Given the description of an element on the screen output the (x, y) to click on. 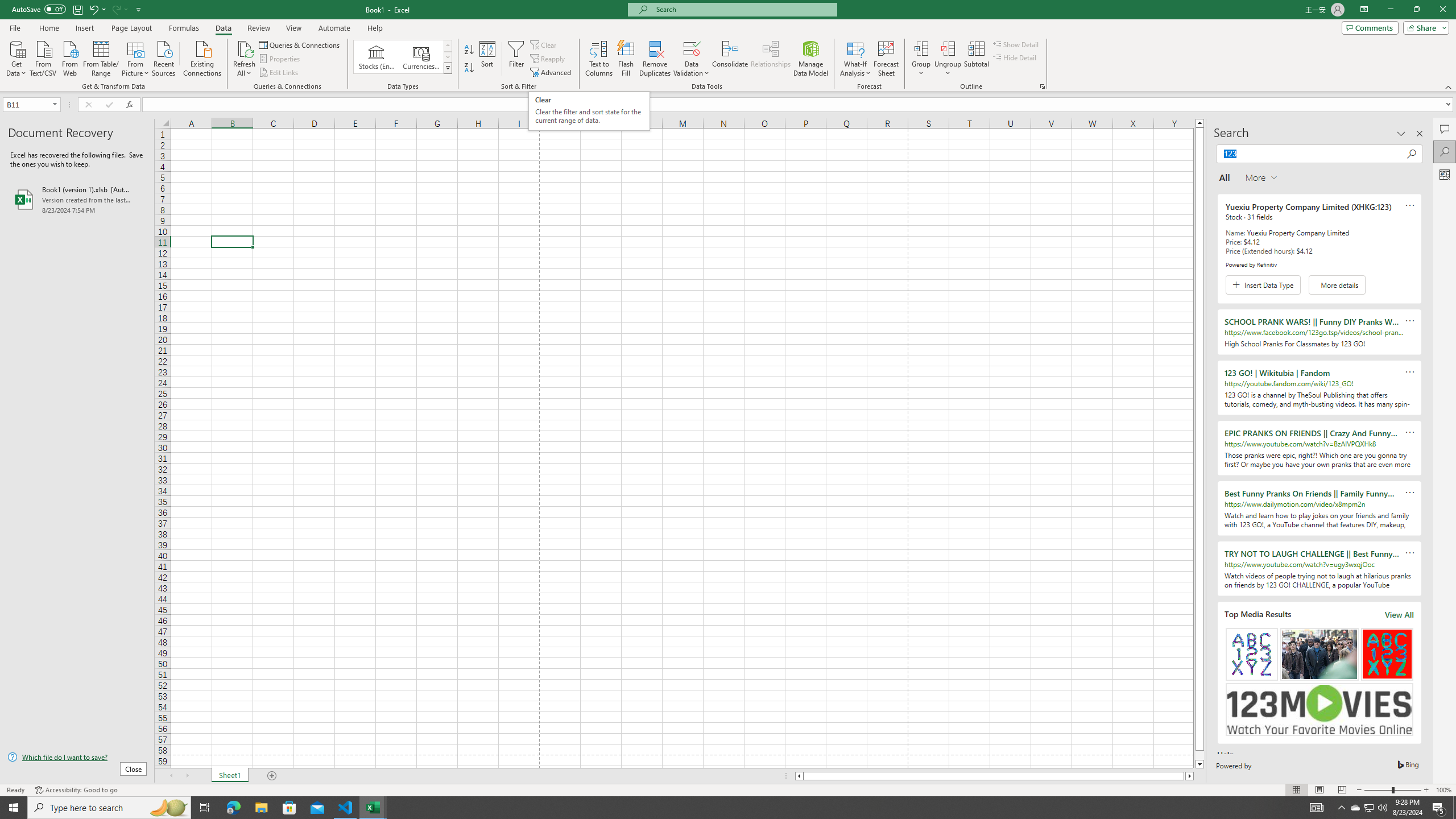
Show Detail (1016, 44)
Group and Outline Settings (1042, 85)
From Picture (135, 57)
Advanced... (551, 72)
